Given the description of an element on the screen output the (x, y) to click on. 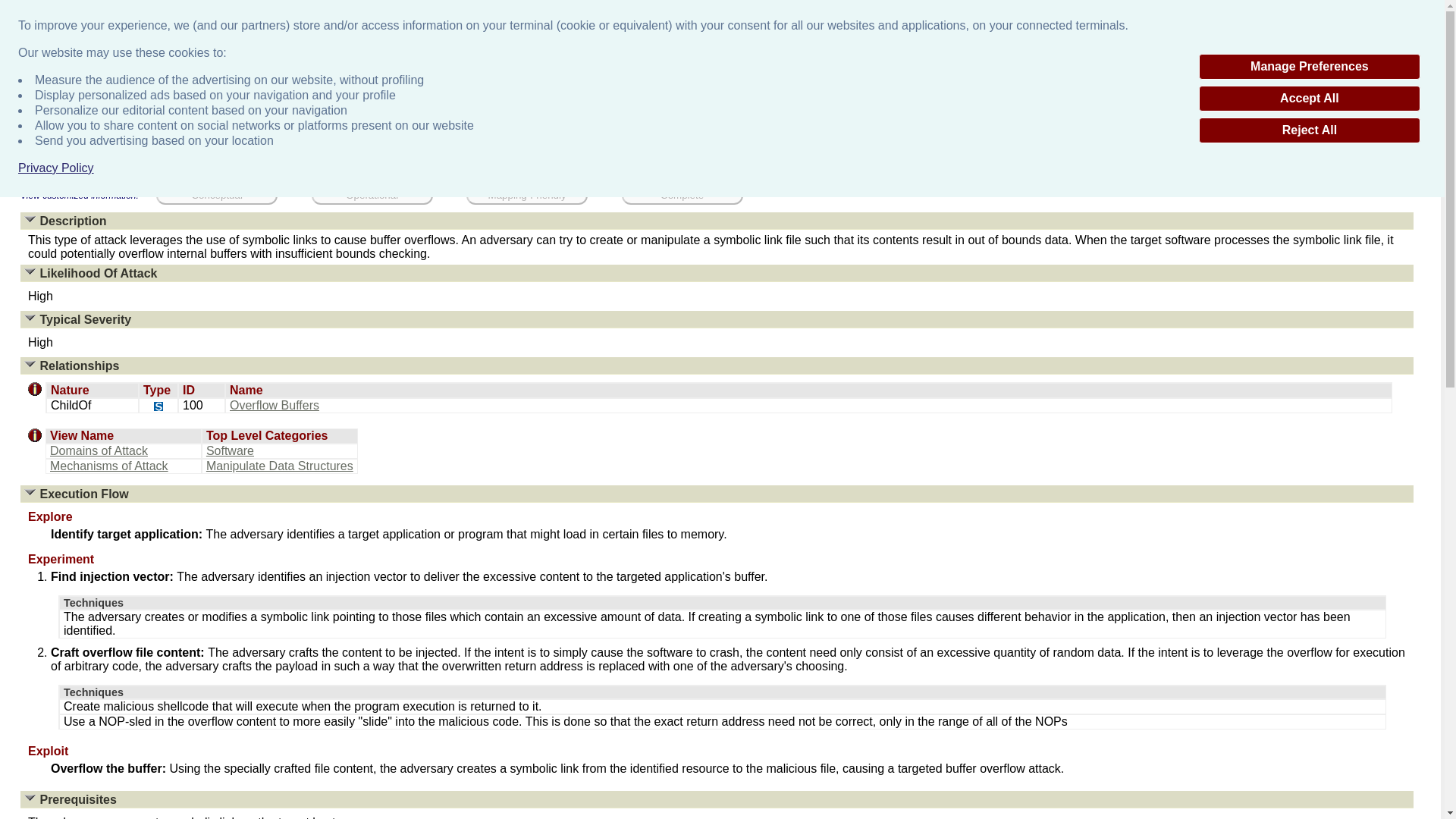
Accept All (1309, 98)
About (591, 102)
Go (1424, 84)
Home (19, 84)
Manage Preferences (1309, 66)
New to CAPEC? Start Here (1391, 6)
Home (521, 102)
Go (1424, 84)
Privacy Policy (55, 168)
Reject All (1309, 130)
CAPEC List (681, 102)
CAPEC List (68, 84)
Community (784, 102)
